Given the description of an element on the screen output the (x, y) to click on. 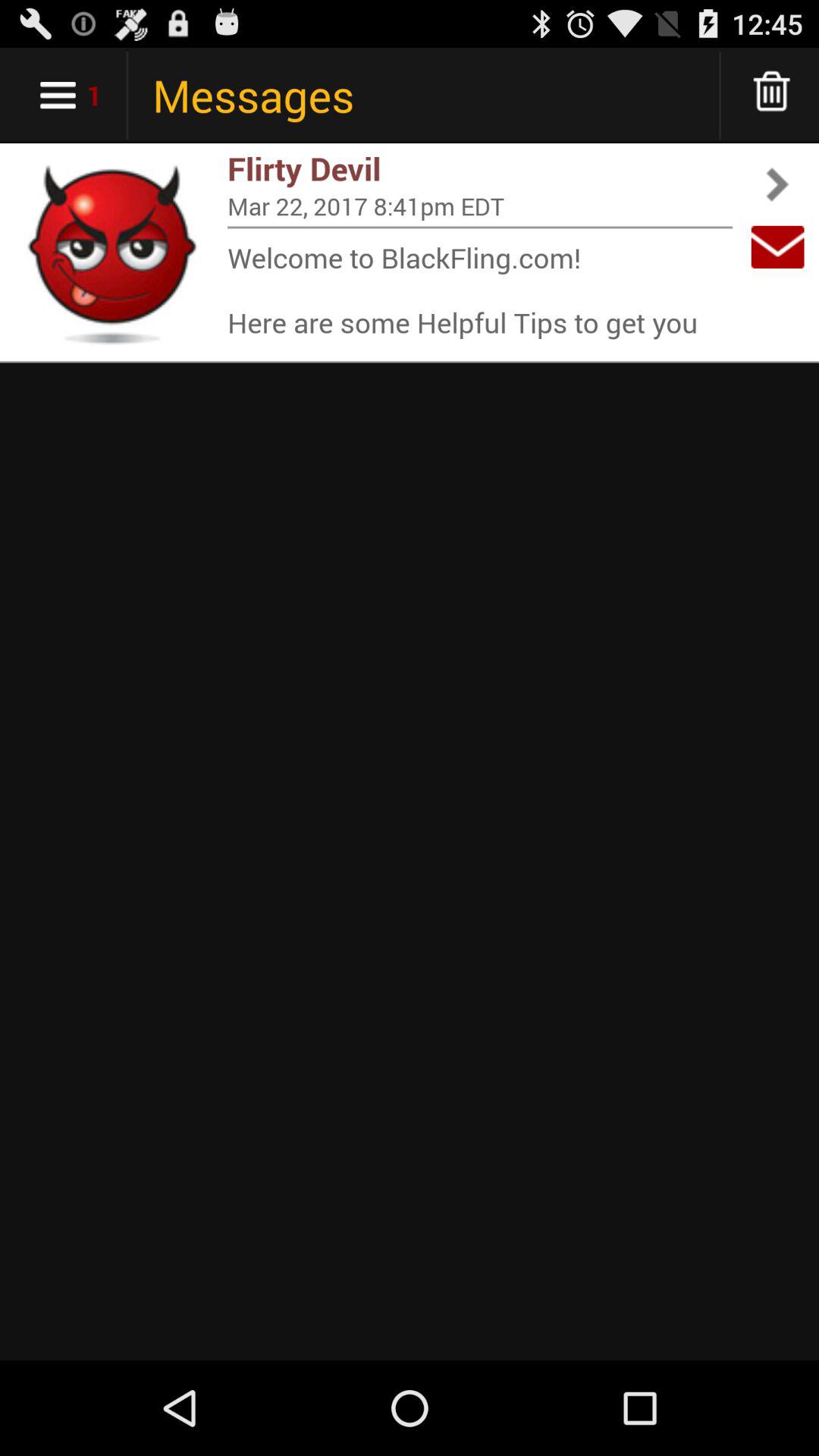
tap the app below messages app (479, 168)
